Given the description of an element on the screen output the (x, y) to click on. 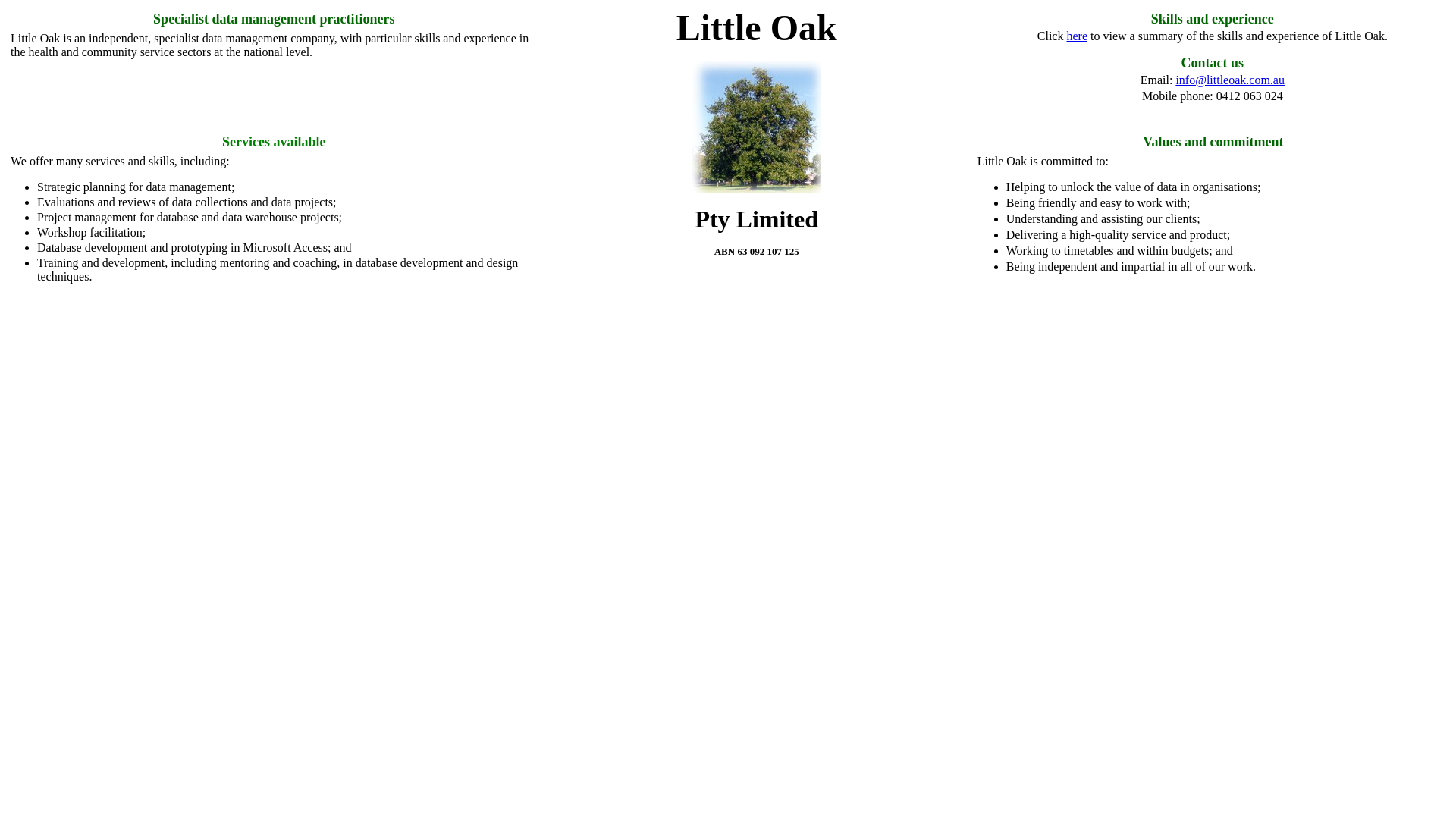
info@littleoak.com.au Element type: text (1229, 79)
here Element type: text (1076, 35)
